Given the description of an element on the screen output the (x, y) to click on. 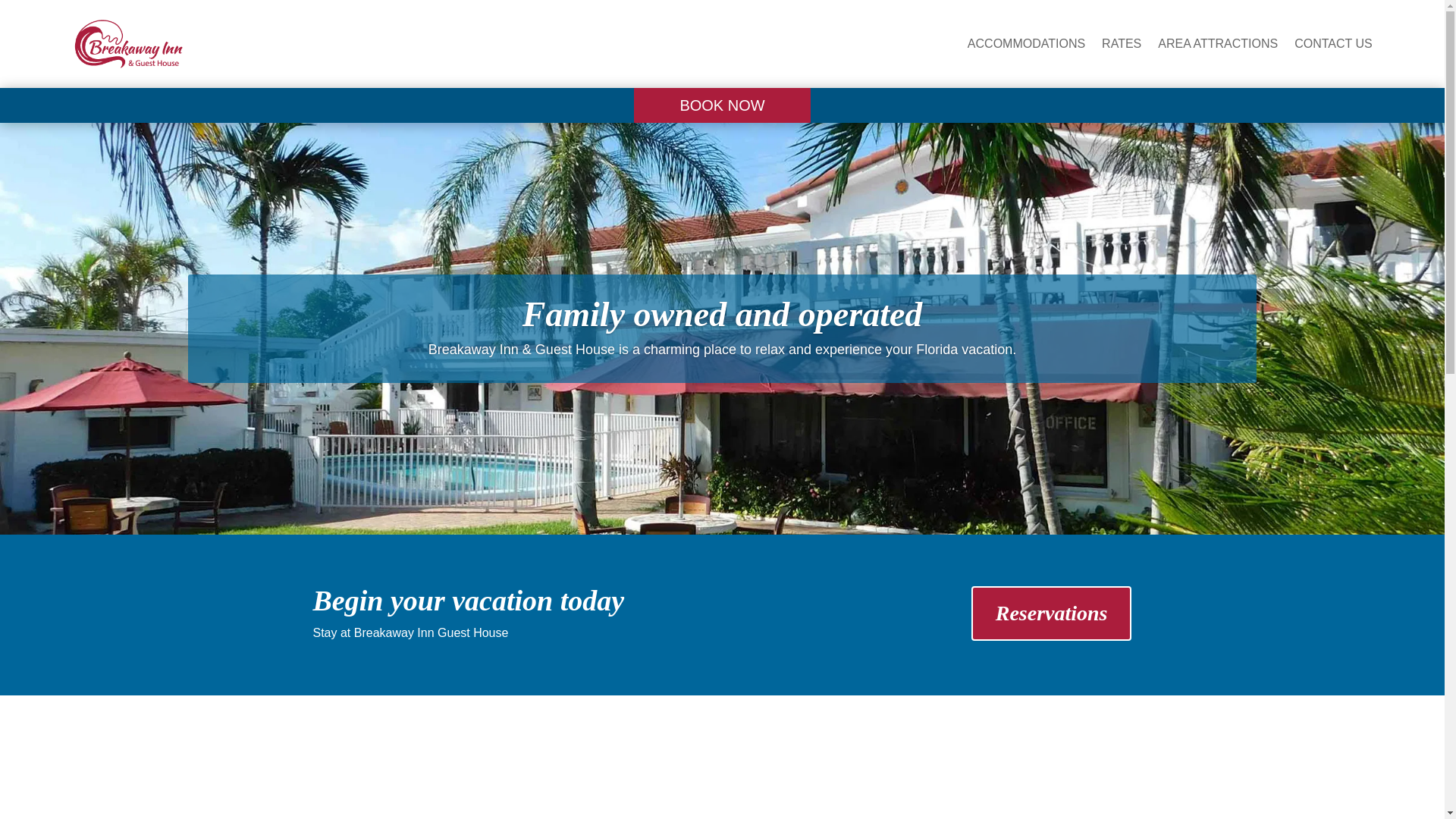
AREA ATTRACTIONS (1217, 43)
ACCOMMODATIONS (1026, 43)
CONTACT US (1333, 43)
BOOK NOW (721, 104)
Reservations (1051, 613)
